Given the description of an element on the screen output the (x, y) to click on. 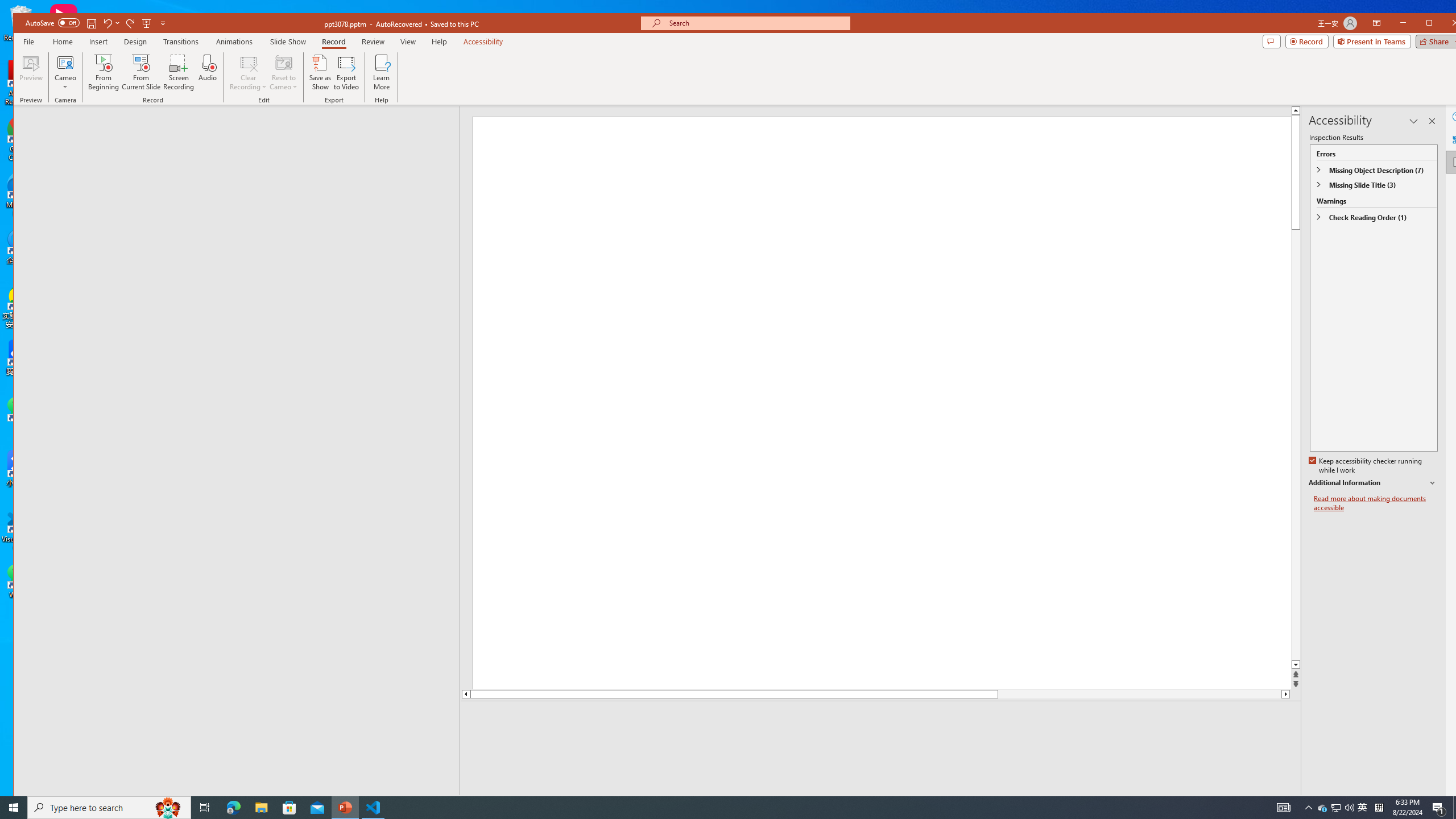
Slide Show Next On (1253, 802)
Maximize (1445, 24)
Reset to Cameo (282, 72)
Audio (207, 72)
